Given the description of an element on the screen output the (x, y) to click on. 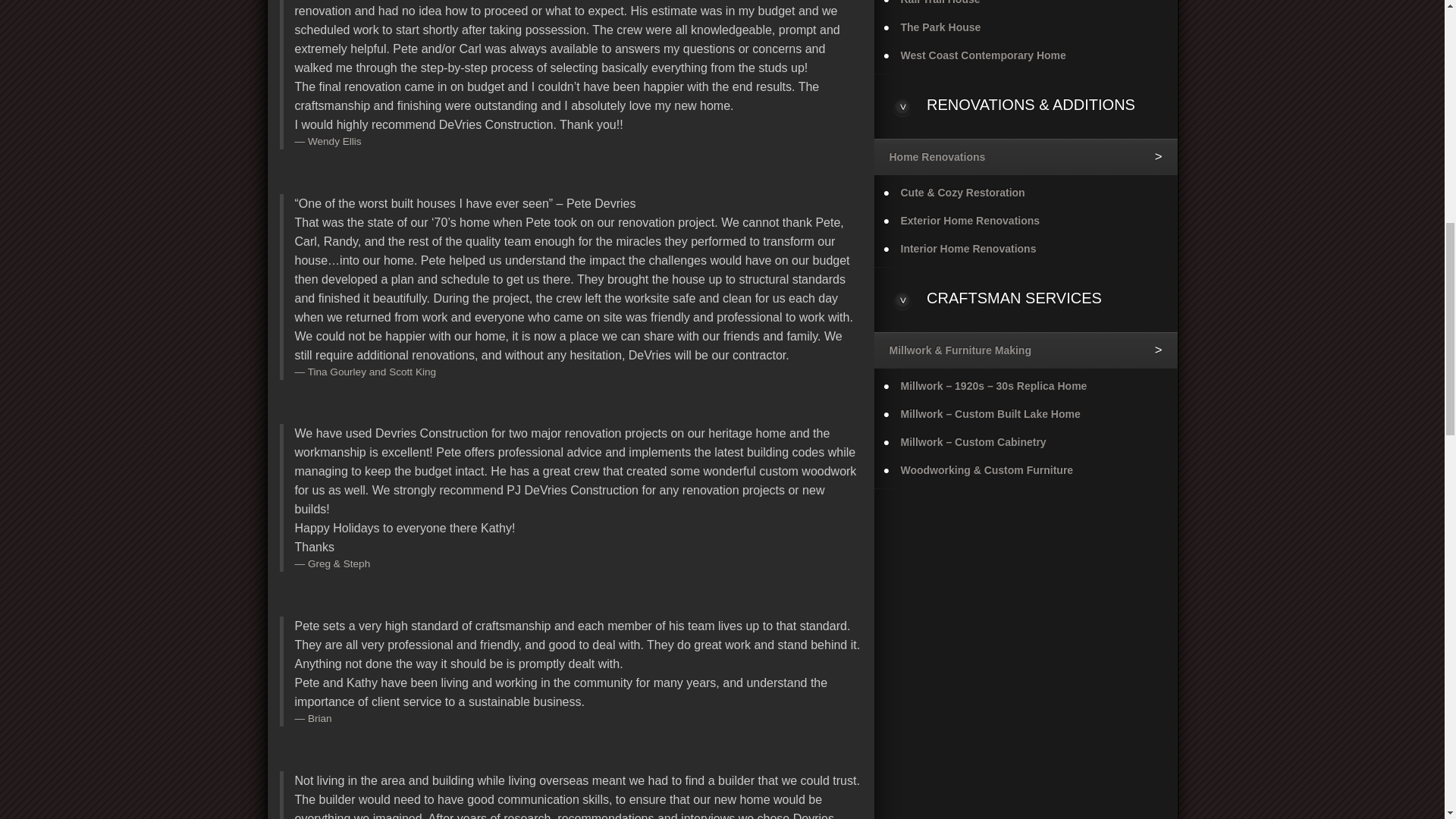
Interior Home Renovations (1024, 248)
Exterior Home Renovations (1024, 221)
West Coast Contemporary Home (1024, 55)
The Park House (1024, 27)
Home Renovations (1024, 156)
Rail Trail House (1024, 6)
